Given the description of an element on the screen output the (x, y) to click on. 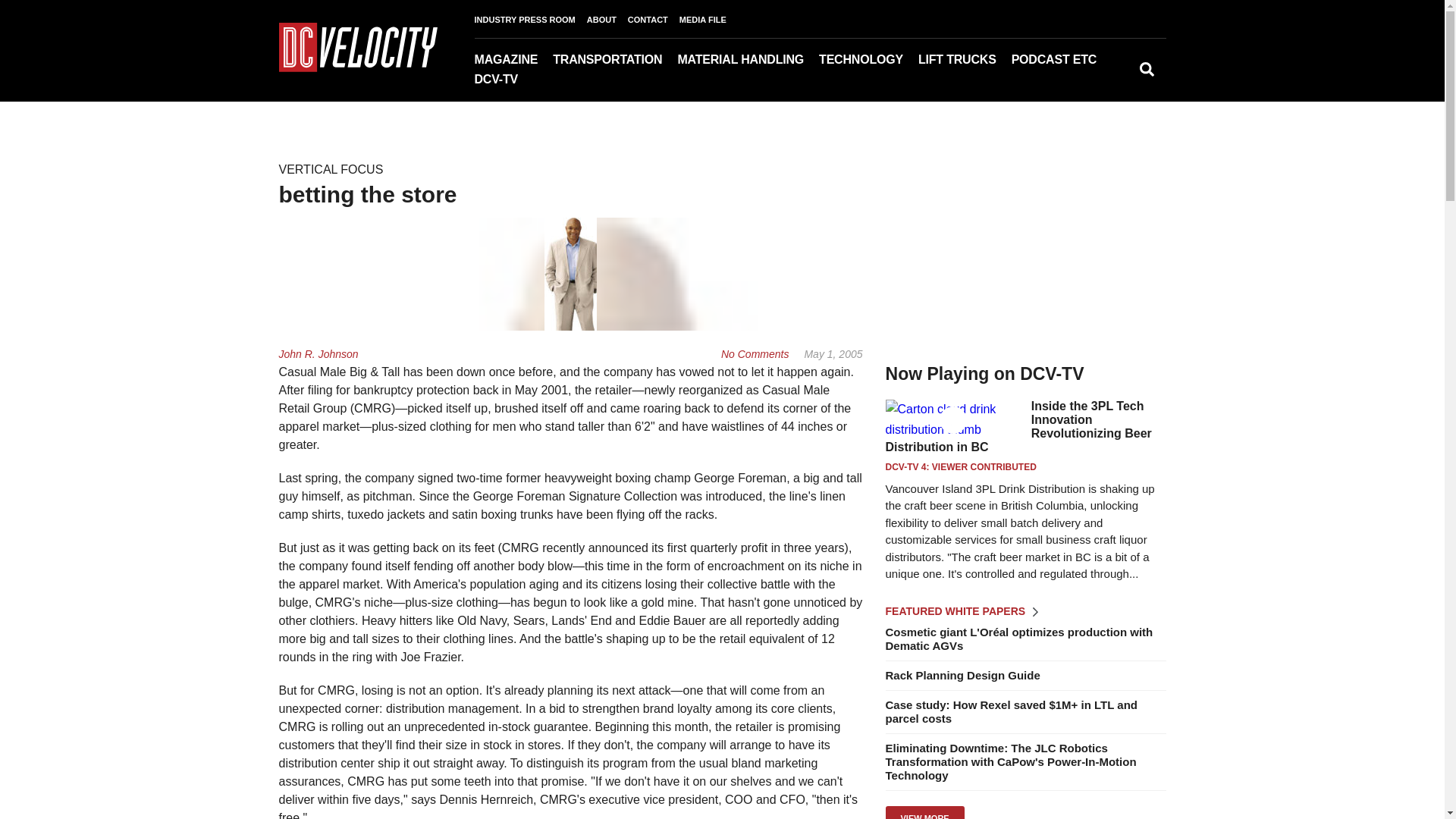
CONTACT (653, 19)
Digital Edition (562, 81)
Webcasts (1093, 81)
TRANSPORTATION (615, 59)
LIFT TRUCKS (964, 59)
Events (1103, 81)
PODCAST ETC (1061, 59)
Mobile Apps (574, 81)
TECHNOLOGY (868, 59)
Industry Press Room (1112, 81)
